Given the description of an element on the screen output the (x, y) to click on. 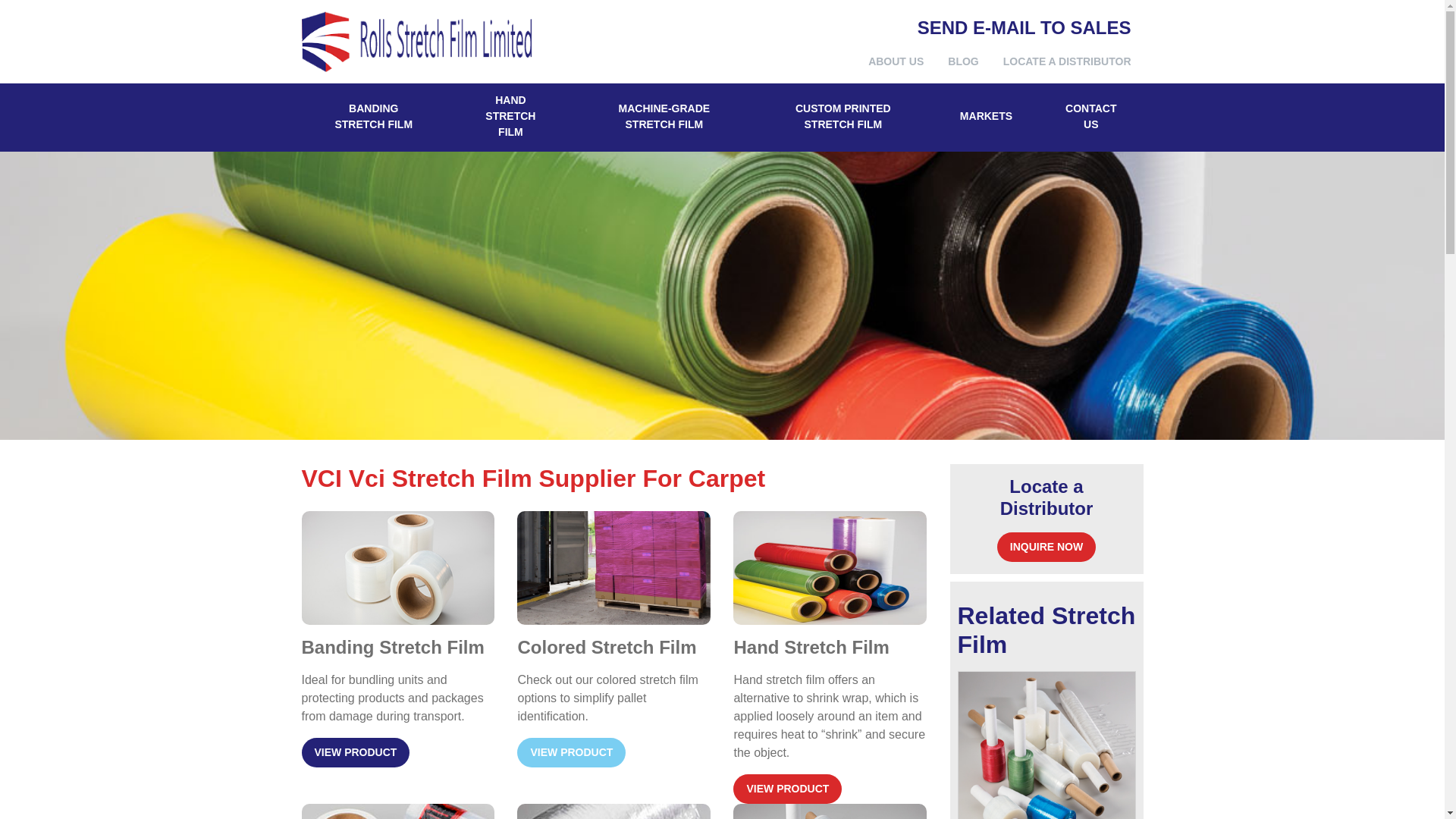
VIEW PRODUCT (355, 752)
Custom Printed Stretch Film (1045, 744)
About Us (896, 60)
Locate a Distributor (1066, 60)
Machine-Grade Stretch Film (663, 116)
BANDING STRETCH FILM (373, 116)
MARKETS (986, 117)
SEND E-MAIL TO SALES (1024, 26)
CUSTOM PRINTED STRETCH FILM (842, 116)
VIEW PRODUCT (571, 752)
Custom Printed Stretch Film (842, 116)
BLOG (963, 60)
Banding Stretch Film (373, 116)
Markets (986, 117)
LOCATE A DISTRIBUTOR (1066, 60)
